Given the description of an element on the screen output the (x, y) to click on. 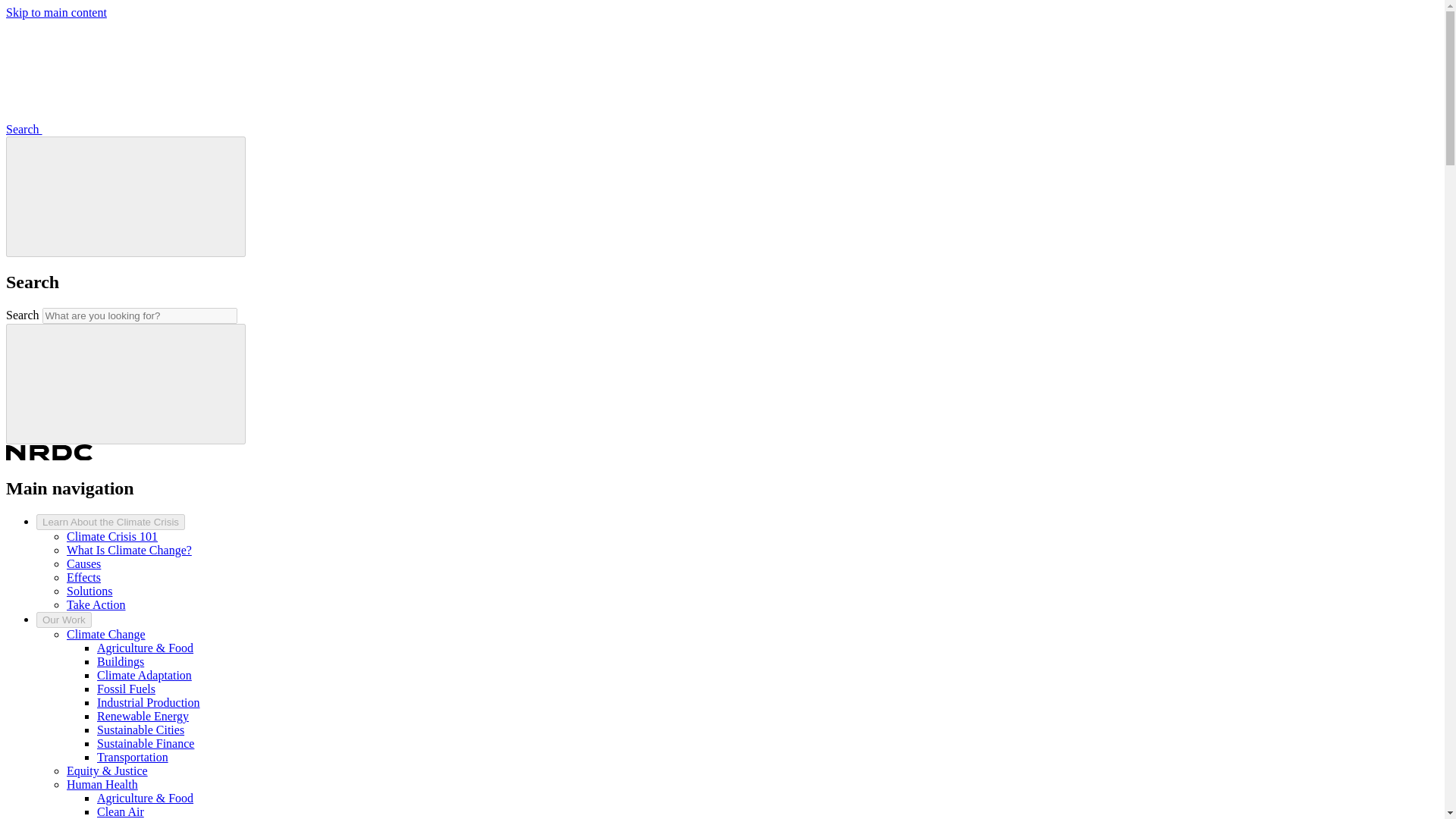
Our Work (63, 619)
Buildings (120, 661)
Transportation (132, 757)
Close search (125, 196)
Search (137, 128)
Learn About the Climate Crisis (110, 521)
Causes (83, 563)
Climate Adaptation (144, 675)
Fossil Fuels (126, 688)
Human Health (102, 784)
